Given the description of an element on the screen output the (x, y) to click on. 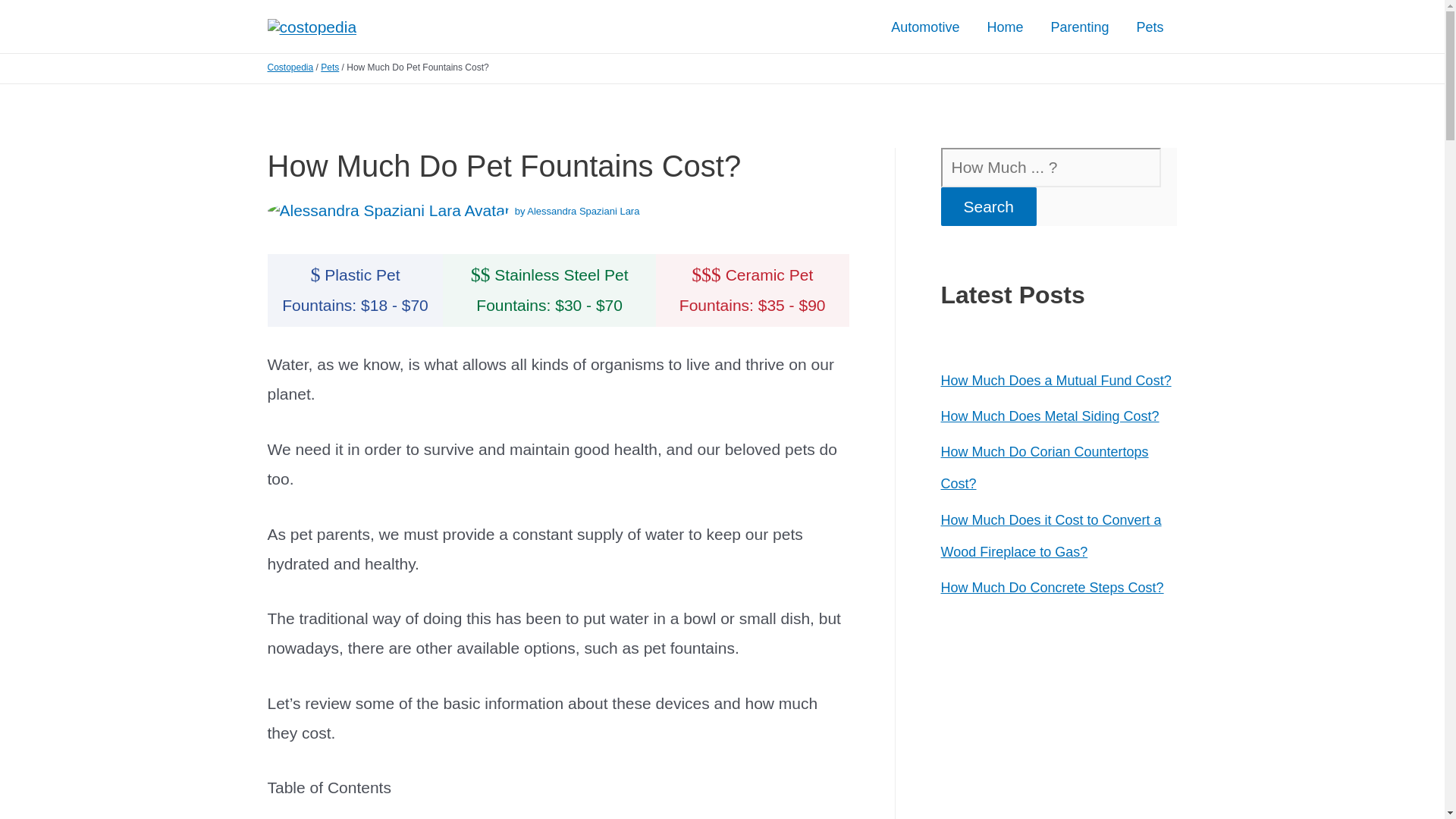
Home (1004, 27)
Pets (329, 67)
Automotive (924, 27)
Parenting (1079, 27)
Costopedia (289, 67)
Pets (1149, 27)
